Given the description of an element on the screen output the (x, y) to click on. 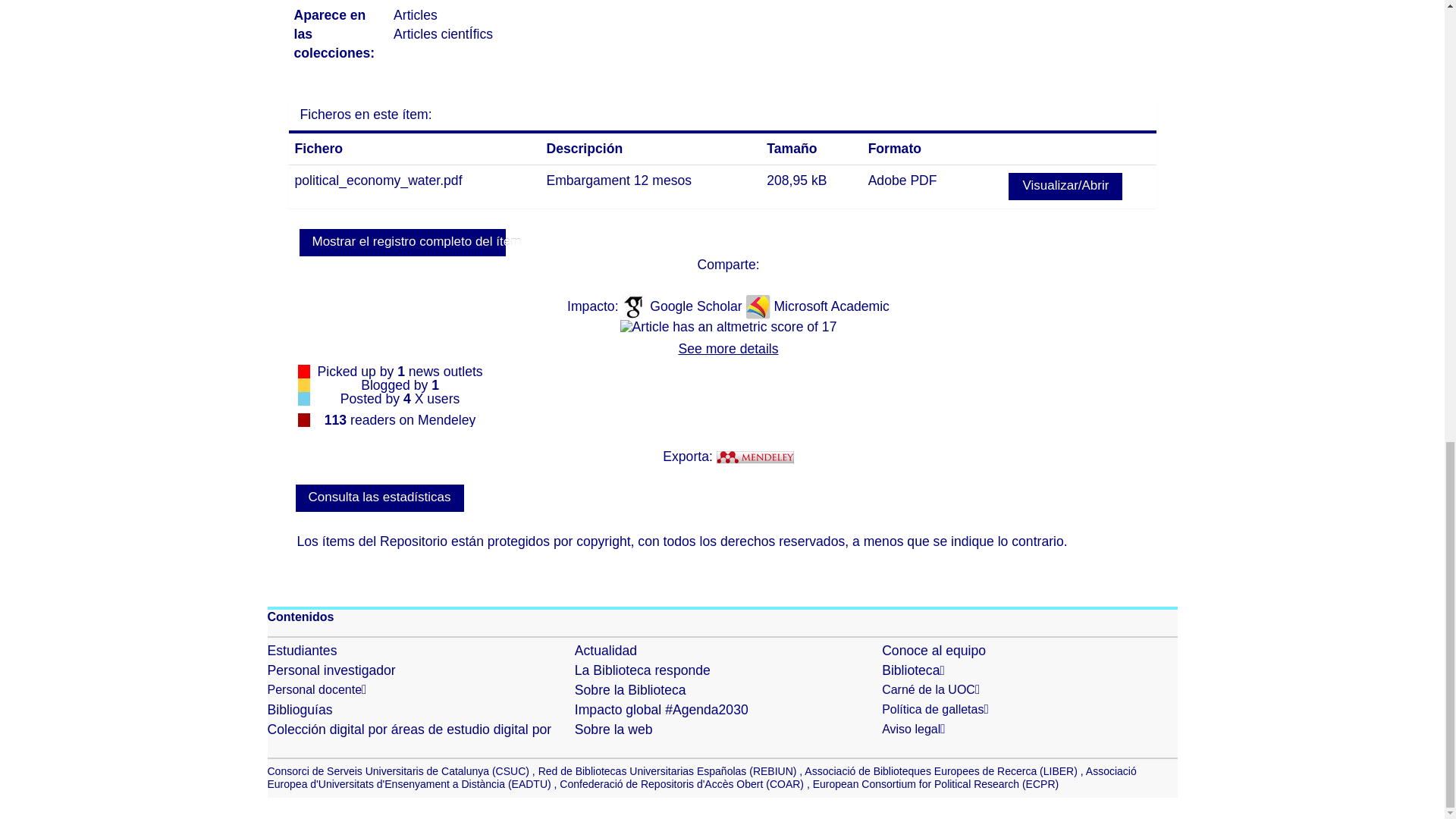
Articles (415, 14)
Microsoft Academic (831, 305)
Google Scholar (697, 305)
Google Scholar (697, 305)
Microsoft Academic (831, 305)
